Given the description of an element on the screen output the (x, y) to click on. 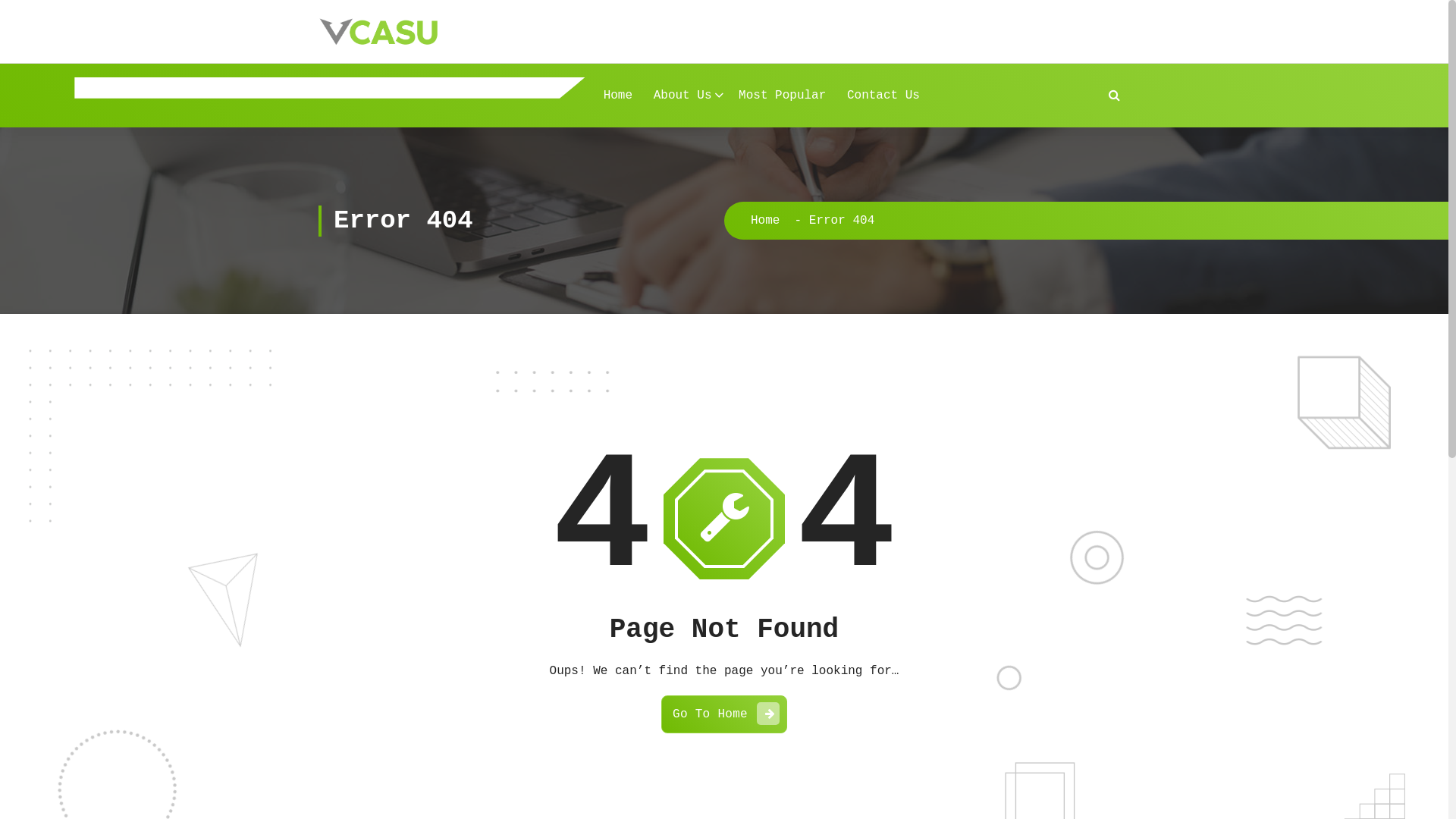
Most Popular Element type: text (781, 95)
Home Element type: text (617, 95)
Home Element type: text (764, 220)
About Us Element type: text (685, 95)
Go To Home Element type: text (724, 714)
Contact Us Element type: text (882, 95)
